Given the description of an element on the screen output the (x, y) to click on. 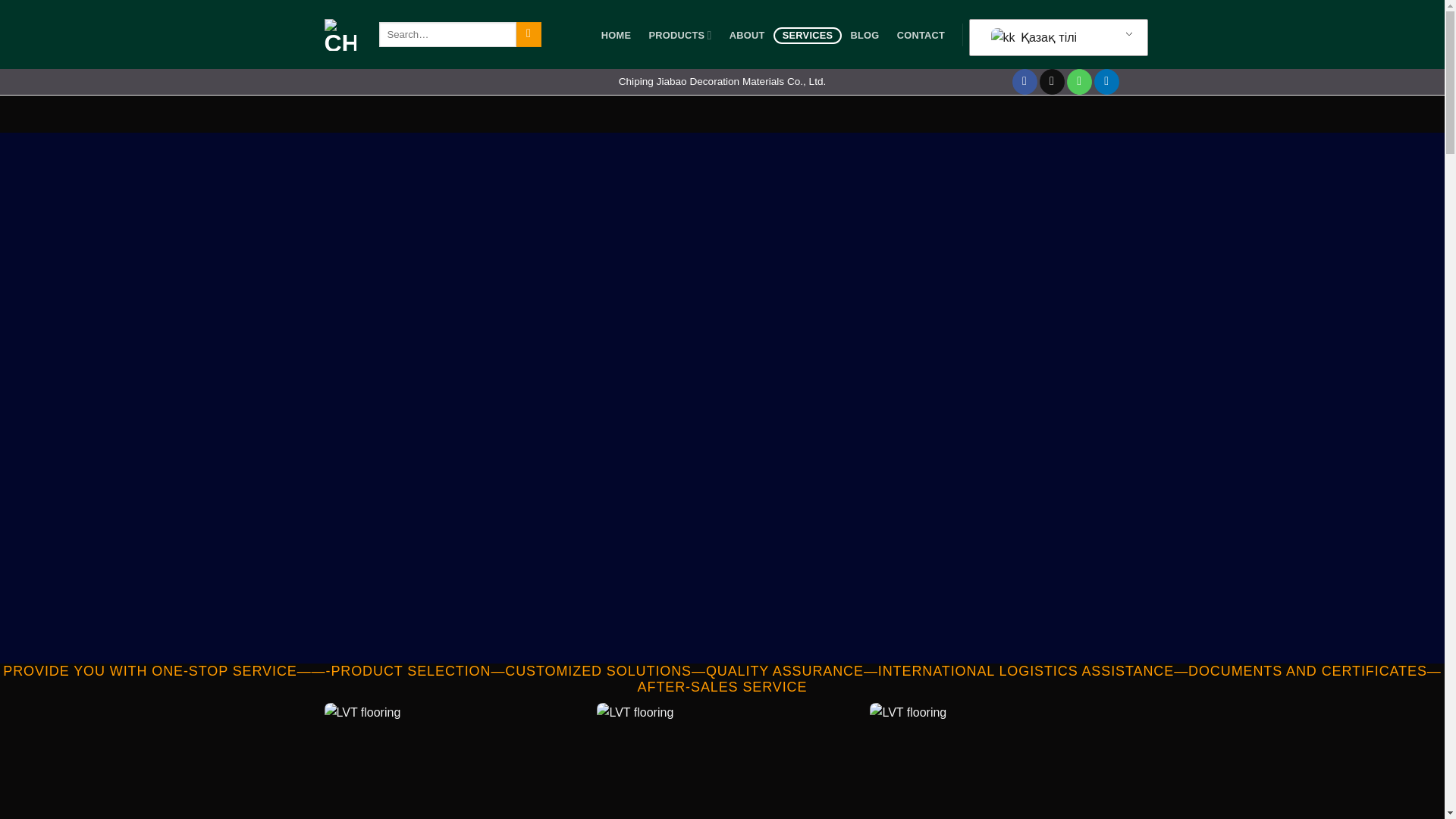
CONTACT  (922, 35)
Search (528, 34)
HOME (616, 35)
SERVICES (807, 35)
ABOUT (746, 35)
BLOG (864, 35)
PRODUCTS (680, 35)
